Given the description of an element on the screen output the (x, y) to click on. 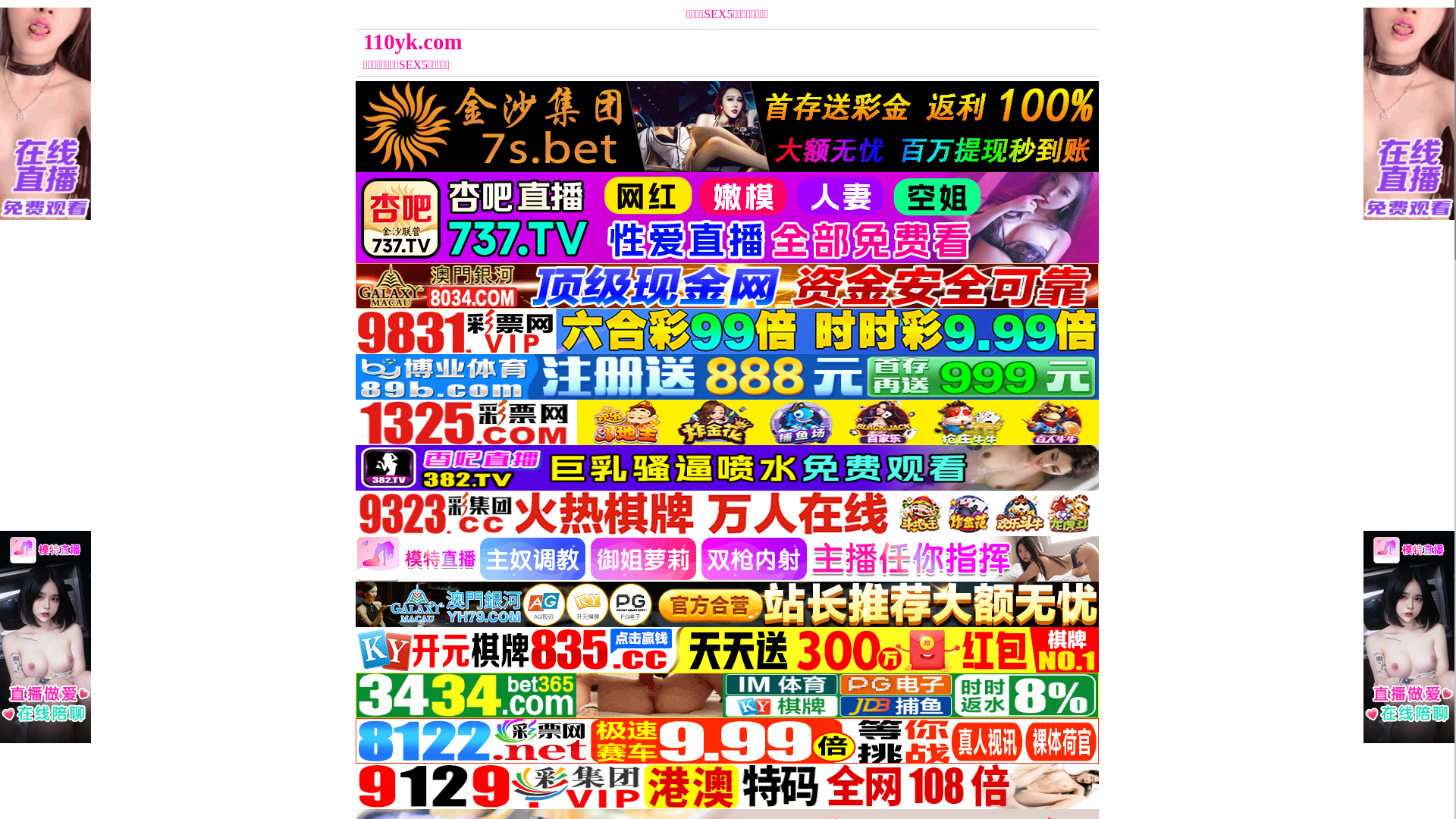
110yk.com Element type: text (634, 41)
